Given the description of an element on the screen output the (x, y) to click on. 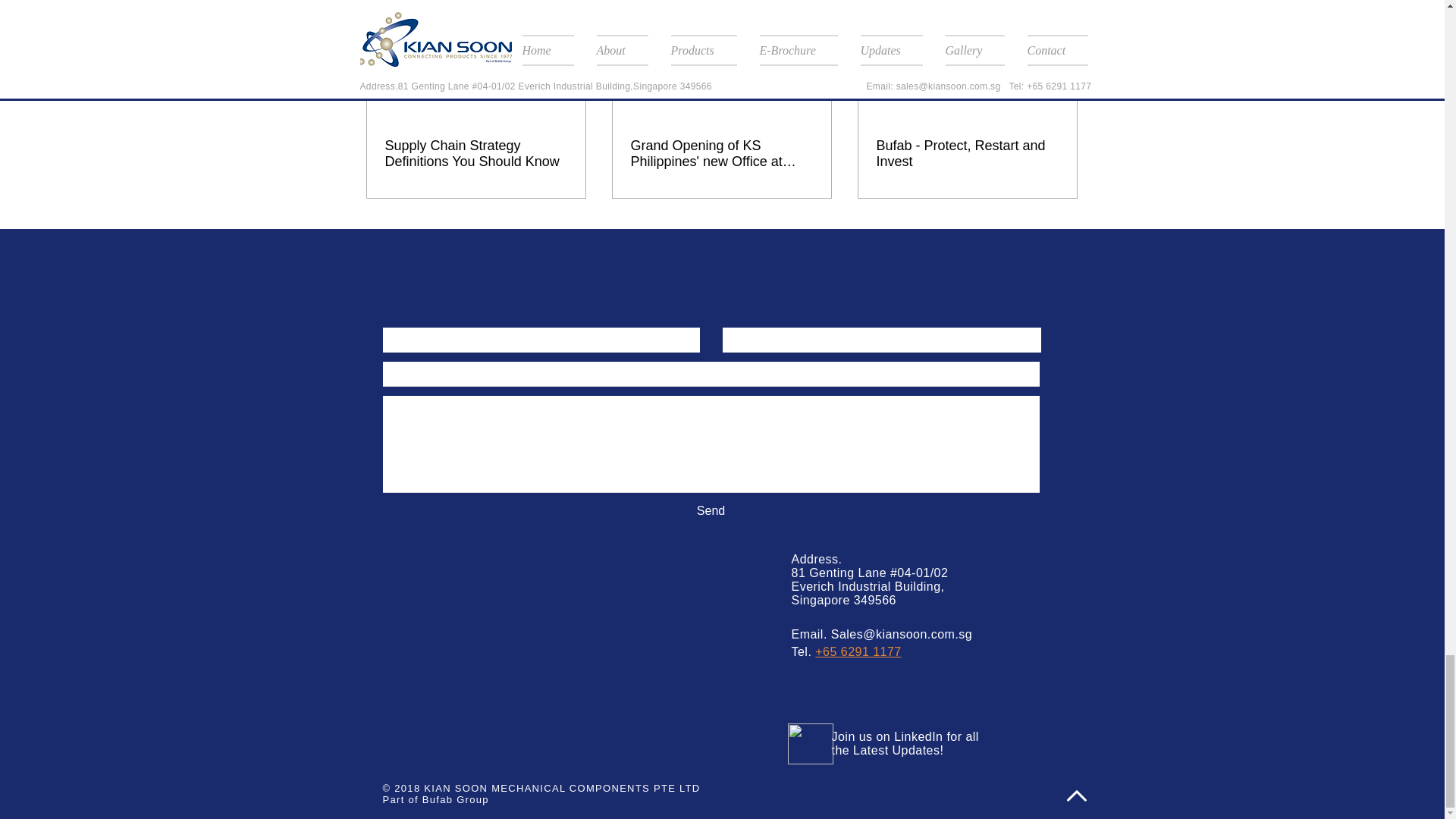
Supply Chain Strategy Definitions You Should Know (476, 153)
Bufab - Protect, Restart and Invest (967, 153)
Send (710, 510)
